Given the description of an element on the screen output the (x, y) to click on. 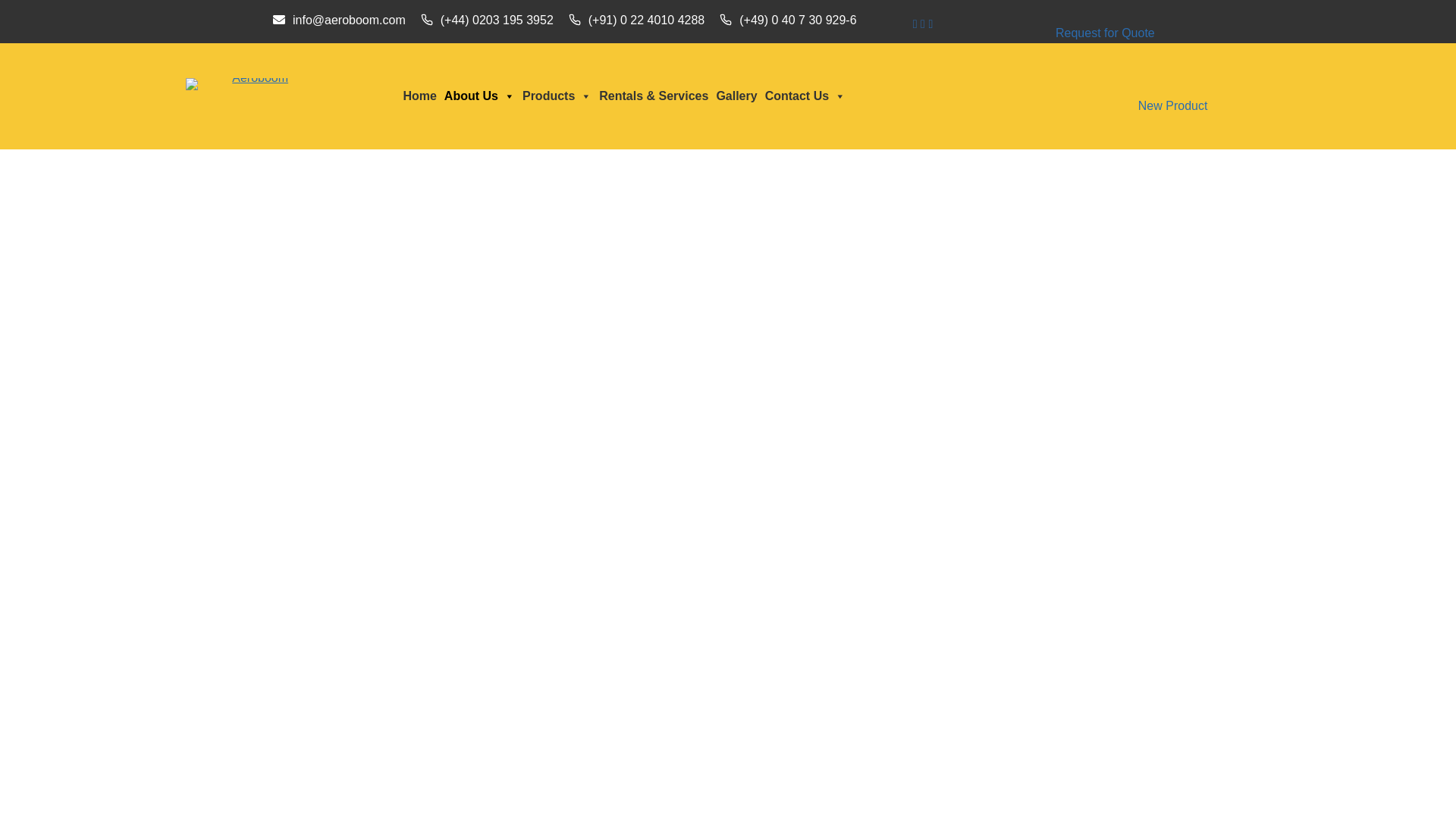
Request for Quote (1104, 33)
About Us (479, 96)
Products (556, 96)
